Given the description of an element on the screen output the (x, y) to click on. 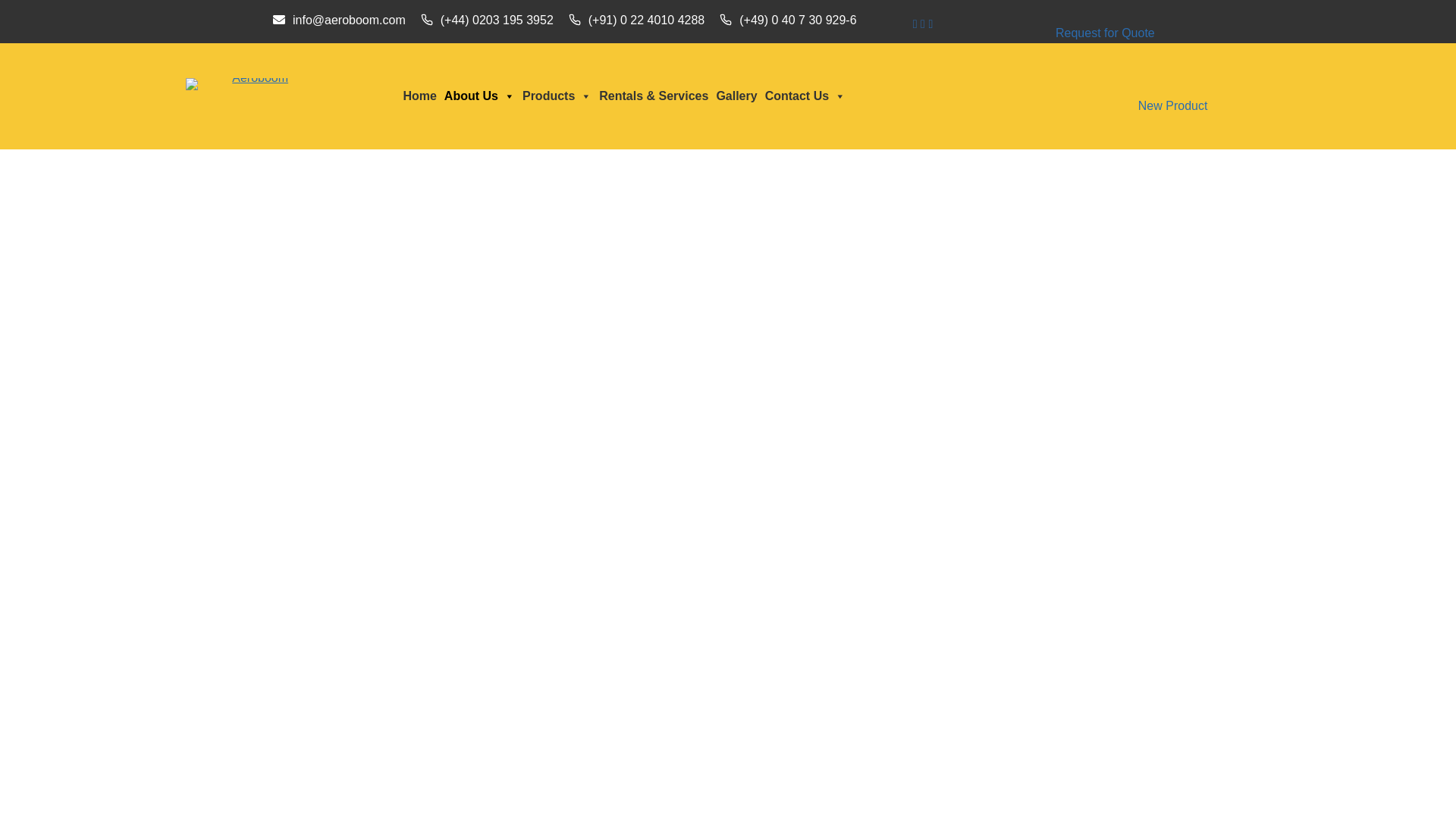
Request for Quote (1104, 33)
About Us (479, 96)
Products (556, 96)
